Given the description of an element on the screen output the (x, y) to click on. 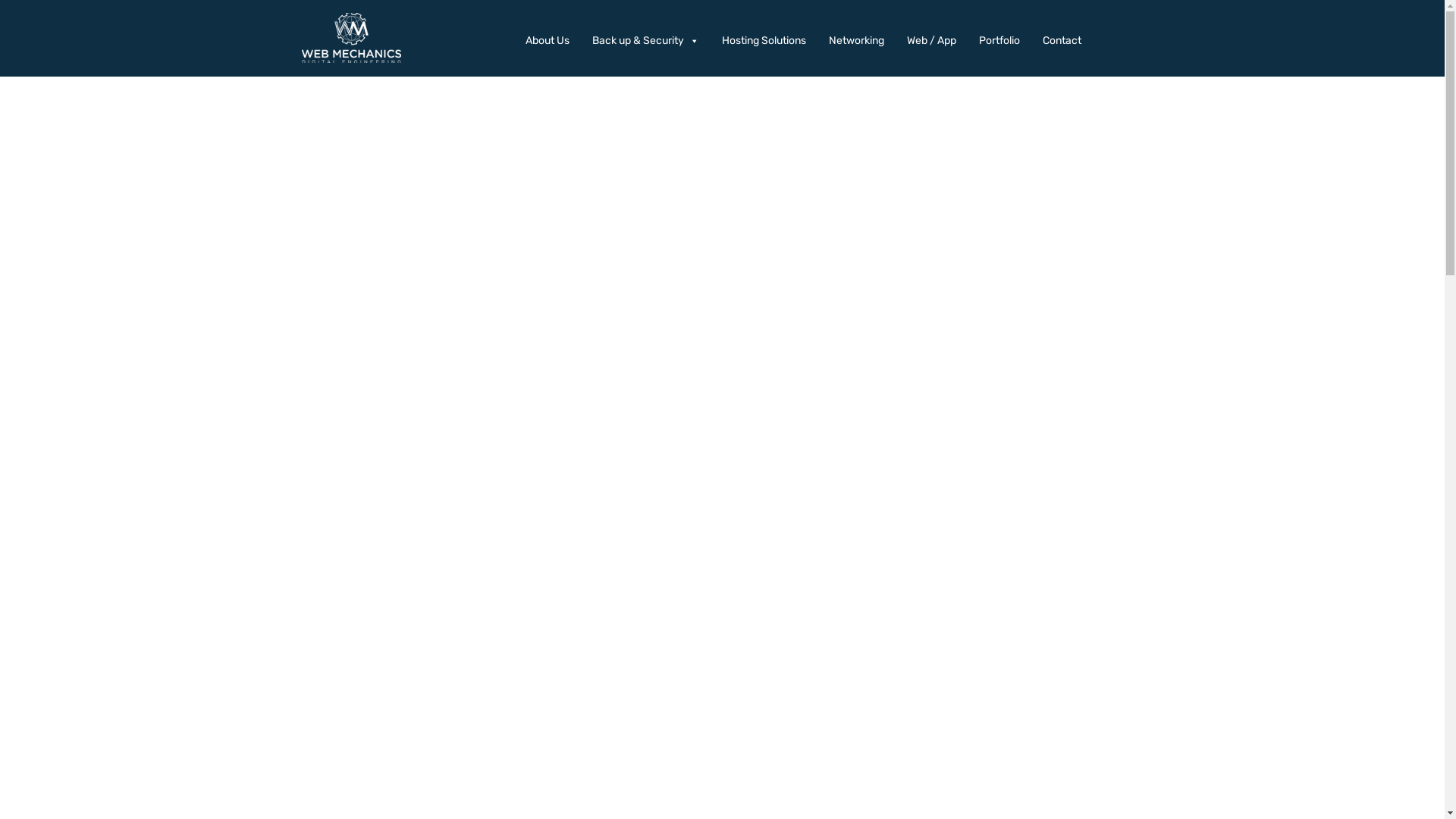
Portfolio Element type: text (1002, 40)
Networking Element type: text (859, 40)
About Us Element type: text (550, 40)
Web / App Element type: text (935, 40)
Contact Element type: text (1064, 40)
Back up & Security Element type: text (648, 40)
Hosting Solutions Element type: text (767, 40)
